Given the description of an element on the screen output the (x, y) to click on. 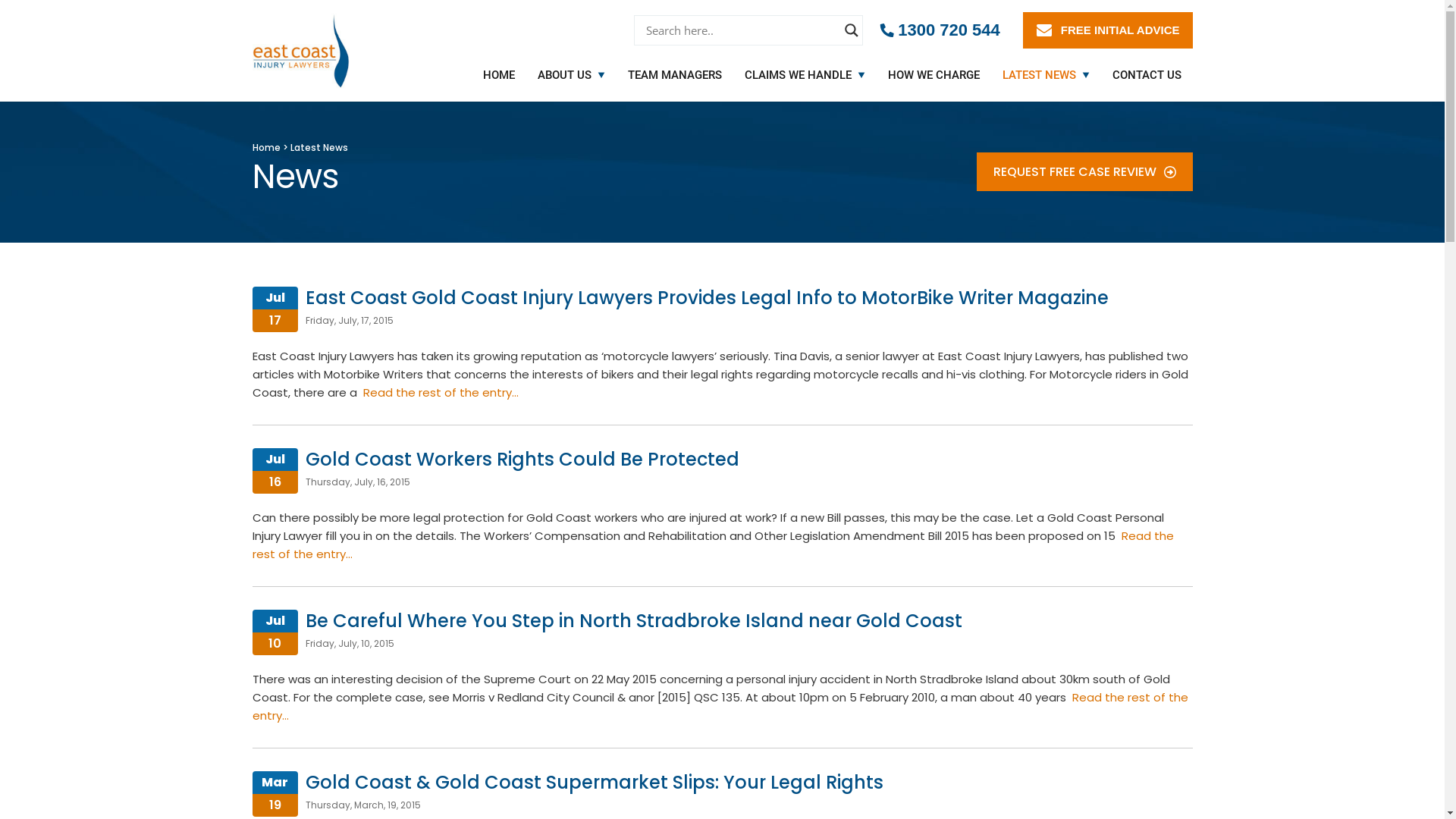
REQUEST FREE CASE REVIEW Element type: text (1084, 171)
Gold Coast & Gold Coast Supermarket Slips: Your Legal Rights Element type: text (593, 781)
HOME Element type: text (498, 74)
CLAIMS WE HANDLE Element type: text (798, 74)
LATEST NEWS Element type: text (1039, 74)
FREE INITIAL ADVICE Element type: text (1107, 30)
Home Element type: text (266, 147)
TEAM MANAGERS Element type: text (673, 74)
1300 720 544 Element type: text (940, 29)
CONTACT US Element type: text (1146, 74)
ABOUT US Element type: text (565, 74)
Gold Coast Workers Rights Could Be Protected Element type: text (521, 458)
HOW WE CHARGE Element type: text (933, 74)
